Given the description of an element on the screen output the (x, y) to click on. 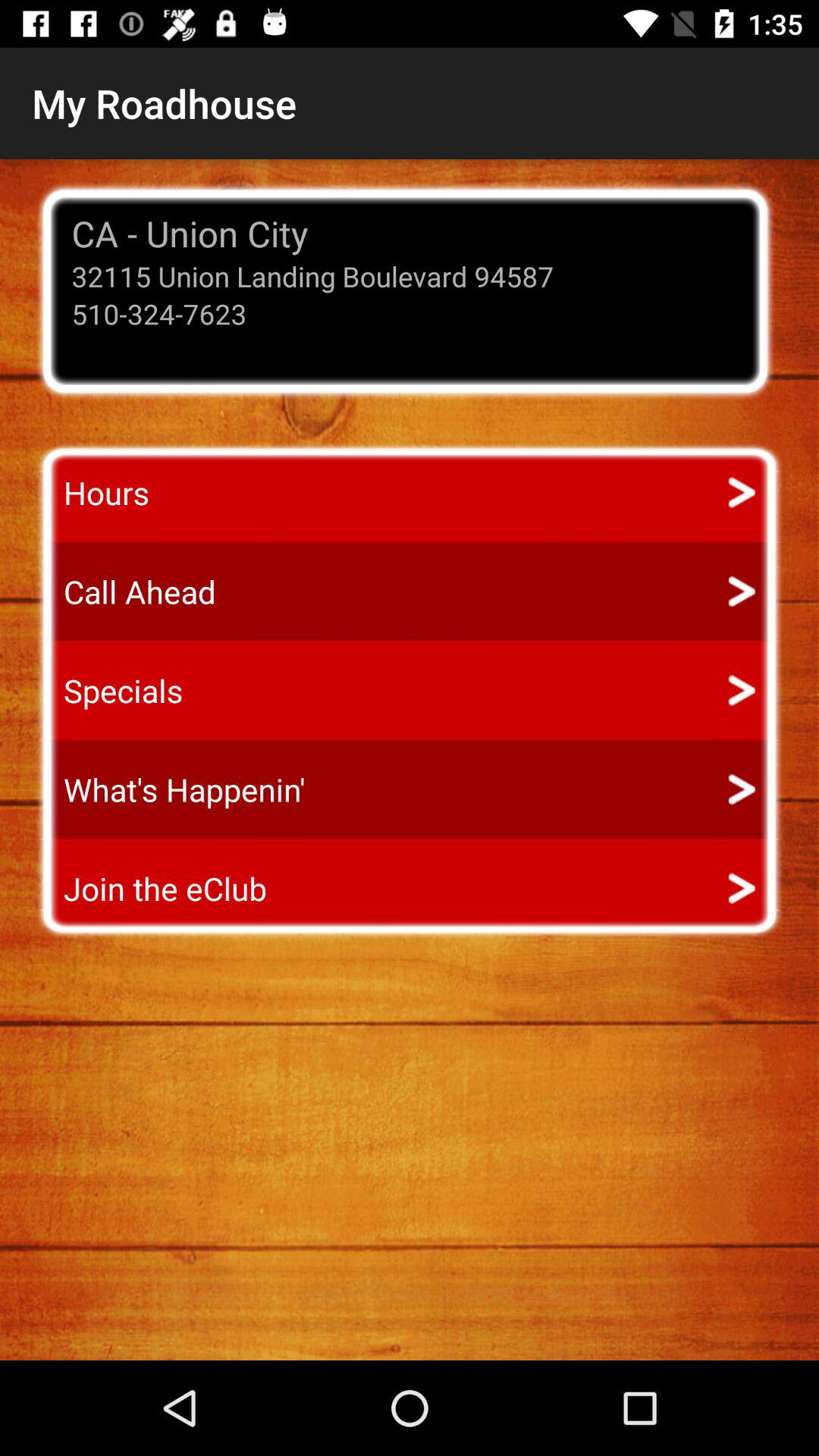
choose icon above the specials app (125, 591)
